Given the description of an element on the screen output the (x, y) to click on. 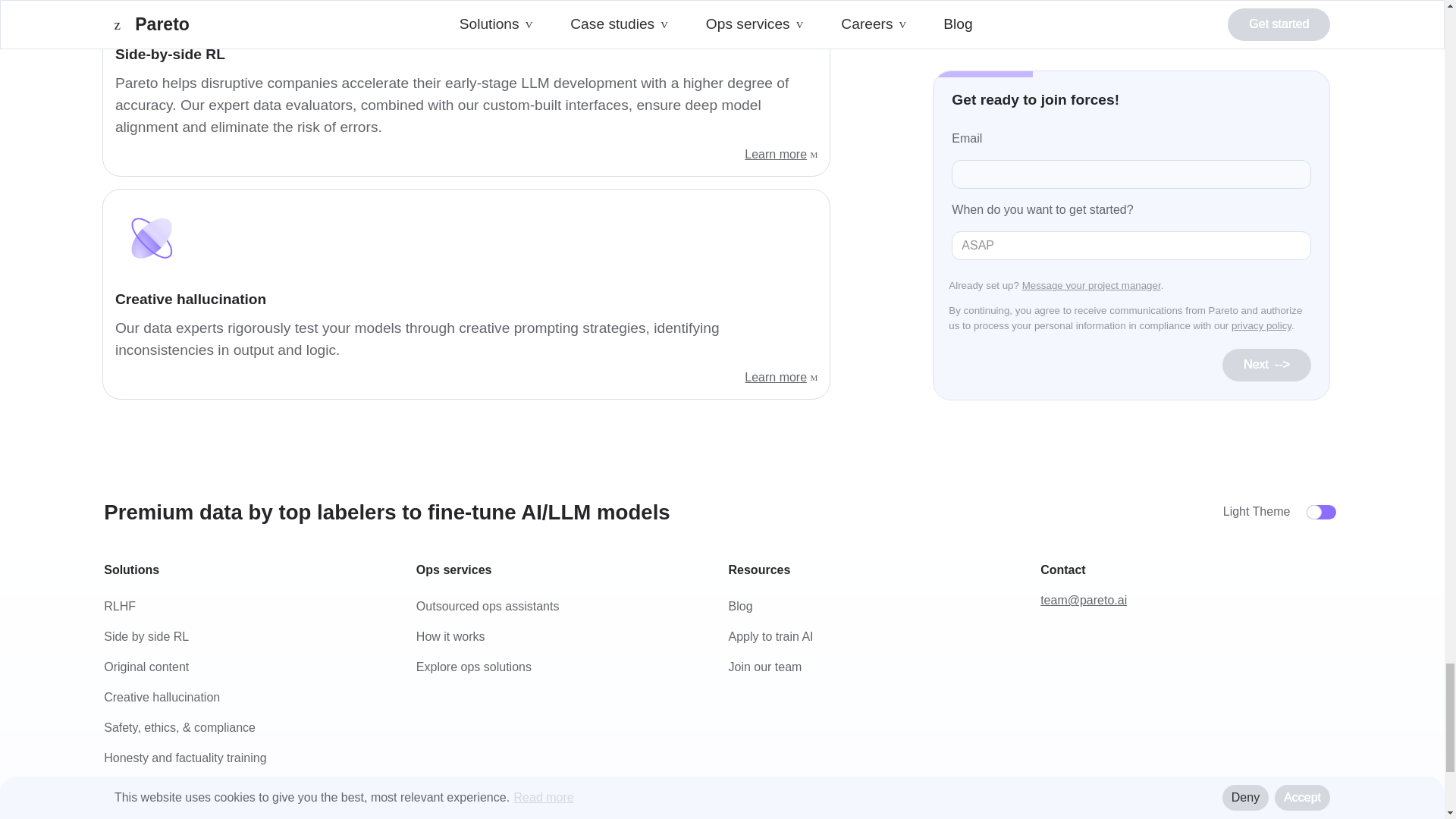
Honesty and factuality training (184, 757)
RLHF (119, 605)
Side by side RL (146, 635)
Creative hallucination (161, 697)
Original content (146, 666)
